Given the description of an element on the screen output the (x, y) to click on. 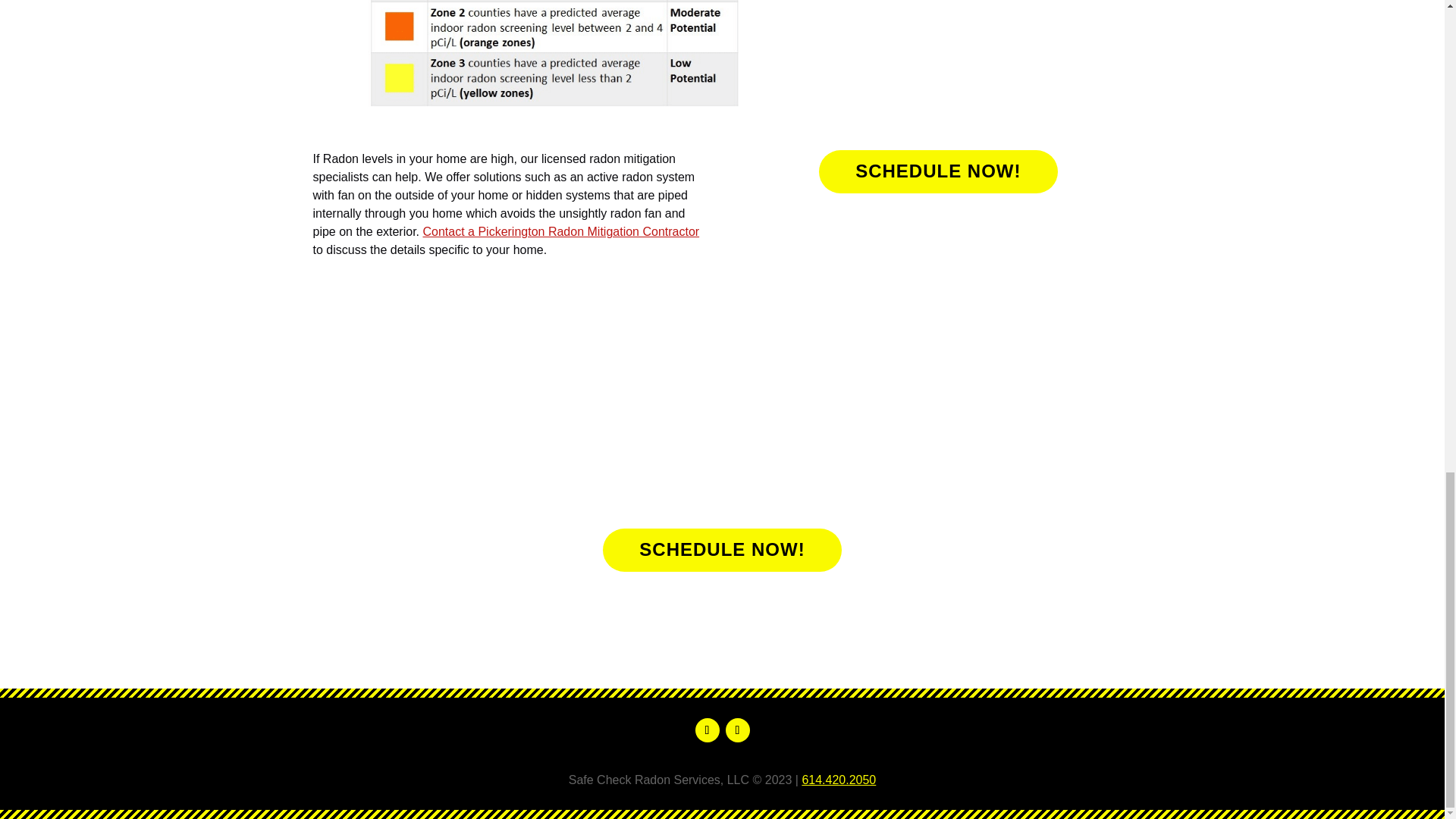
Follow on Facebook (706, 730)
Follow on LinkedIn (737, 730)
Contact a Pickerington Radon Mitigation Contractor (560, 231)
SCHEDULE NOW! (937, 171)
SCHEDULE NOW! (721, 549)
radon-ohio-map (549, 54)
